Given the description of an element on the screen output the (x, y) to click on. 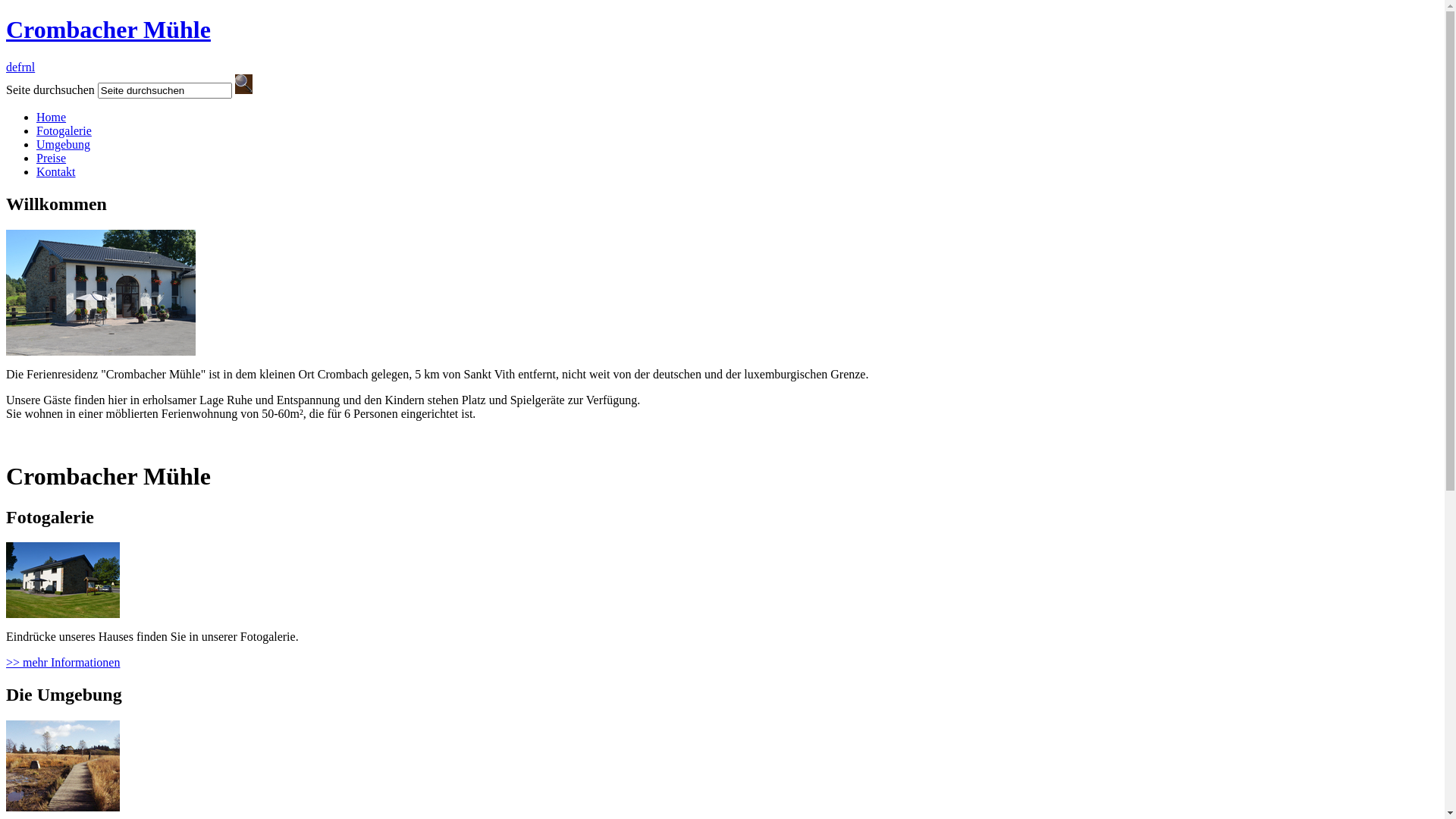
>> mehr Informationen Element type: text (62, 661)
Home Element type: text (50, 116)
fr Element type: text (21, 66)
Fotogalerie Element type: text (63, 130)
Kontakt Element type: text (55, 171)
Umgebung Element type: text (63, 144)
nl Element type: text (29, 66)
de Element type: text (11, 66)
Preise Element type: text (50, 157)
